Given the description of an element on the screen output the (x, y) to click on. 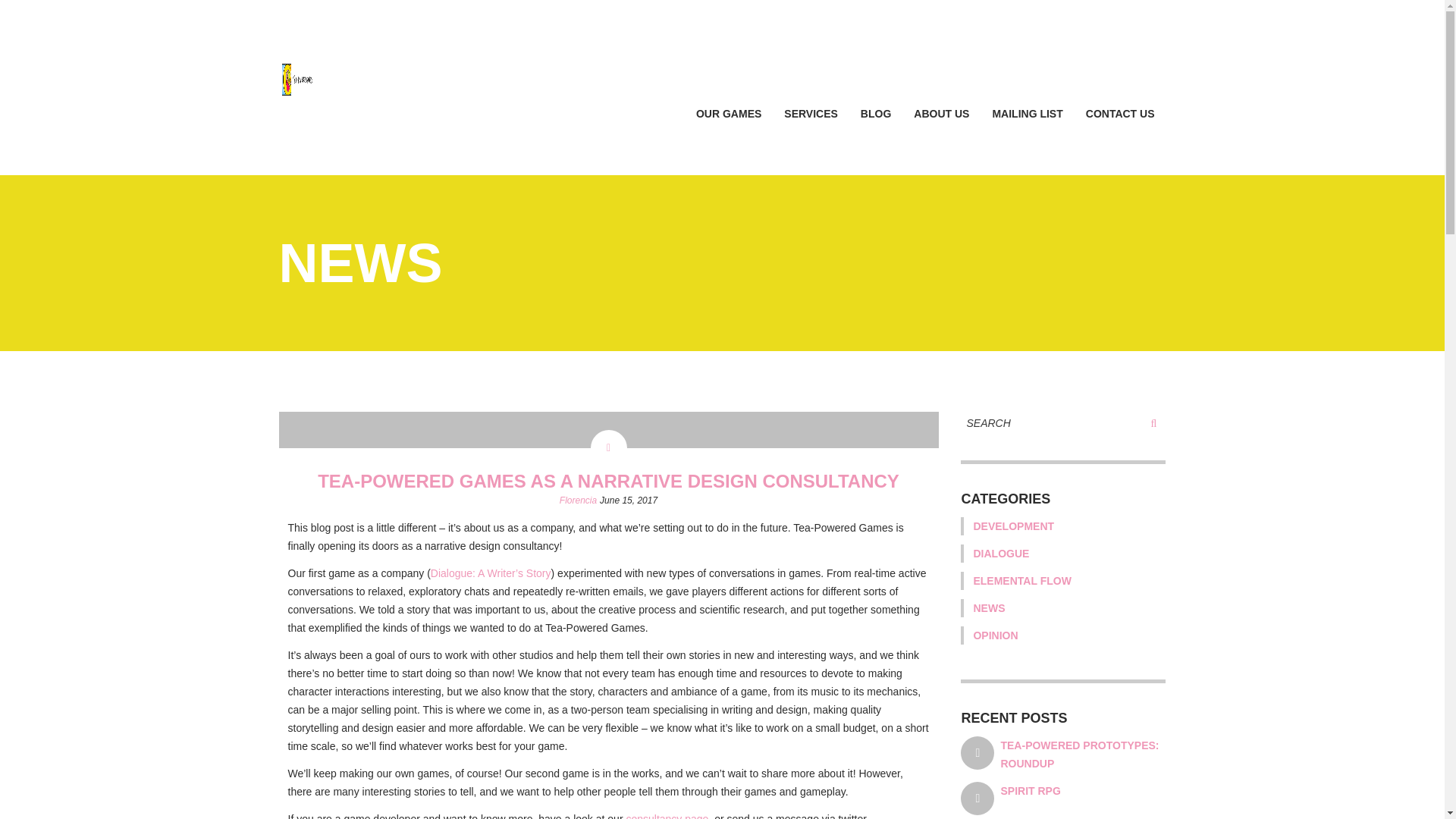
TEA-POWERED GAMES AS A NARRATIVE DESIGN CONSULTANCY (608, 480)
consultancy page (666, 816)
Florencia (577, 500)
Spirit RPG (1029, 790)
Tea-Powered Prototypes: Roundup (1079, 754)
